Given the description of an element on the screen output the (x, y) to click on. 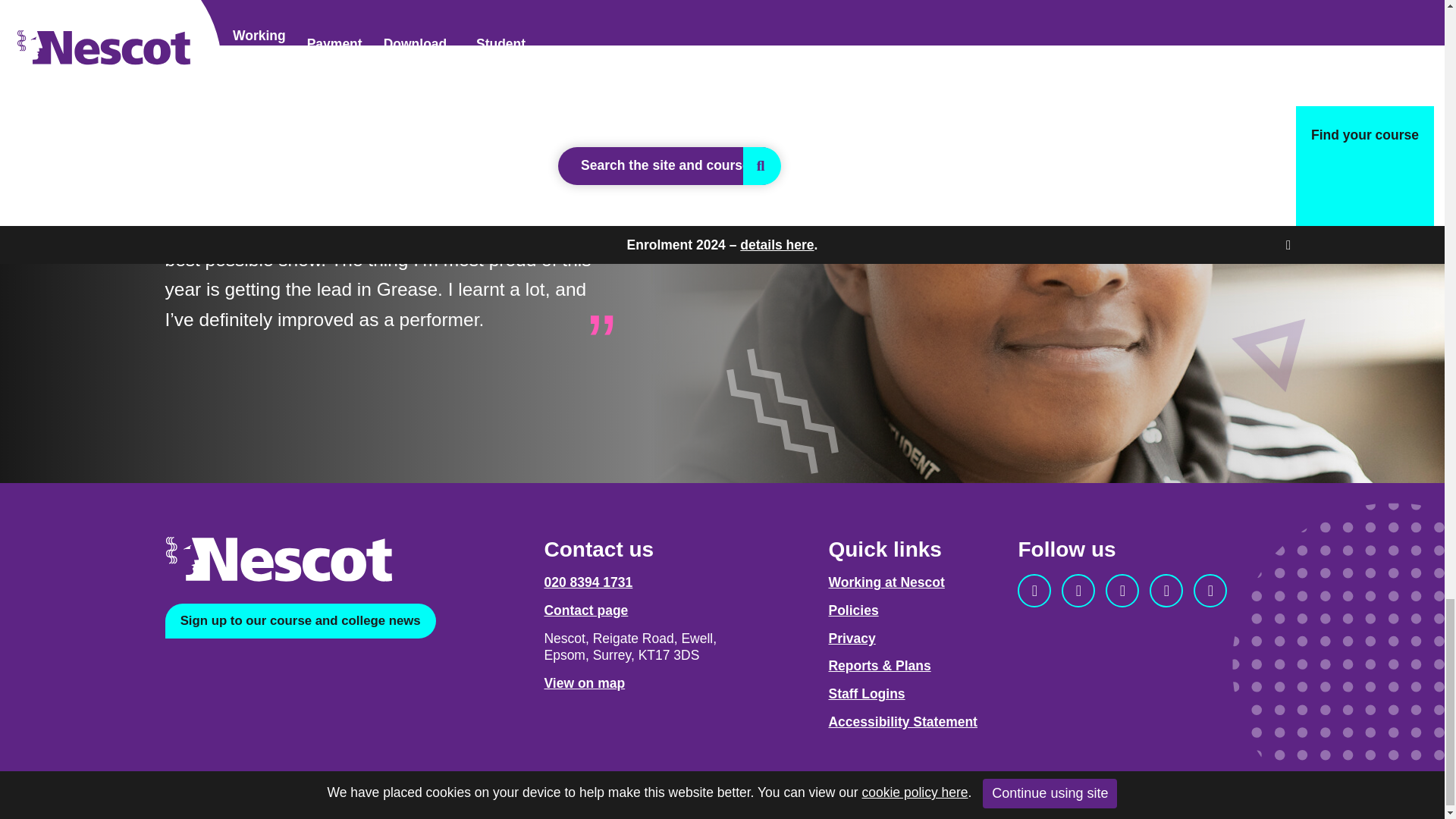
Opens in a new window (1077, 590)
Opens in a new window (1034, 590)
Opens in a new window (1210, 590)
Opens in a new window (583, 683)
Opens in a new window (1121, 590)
Opens in a new window (300, 620)
Opens in a new window (1166, 590)
